Given the description of an element on the screen output the (x, y) to click on. 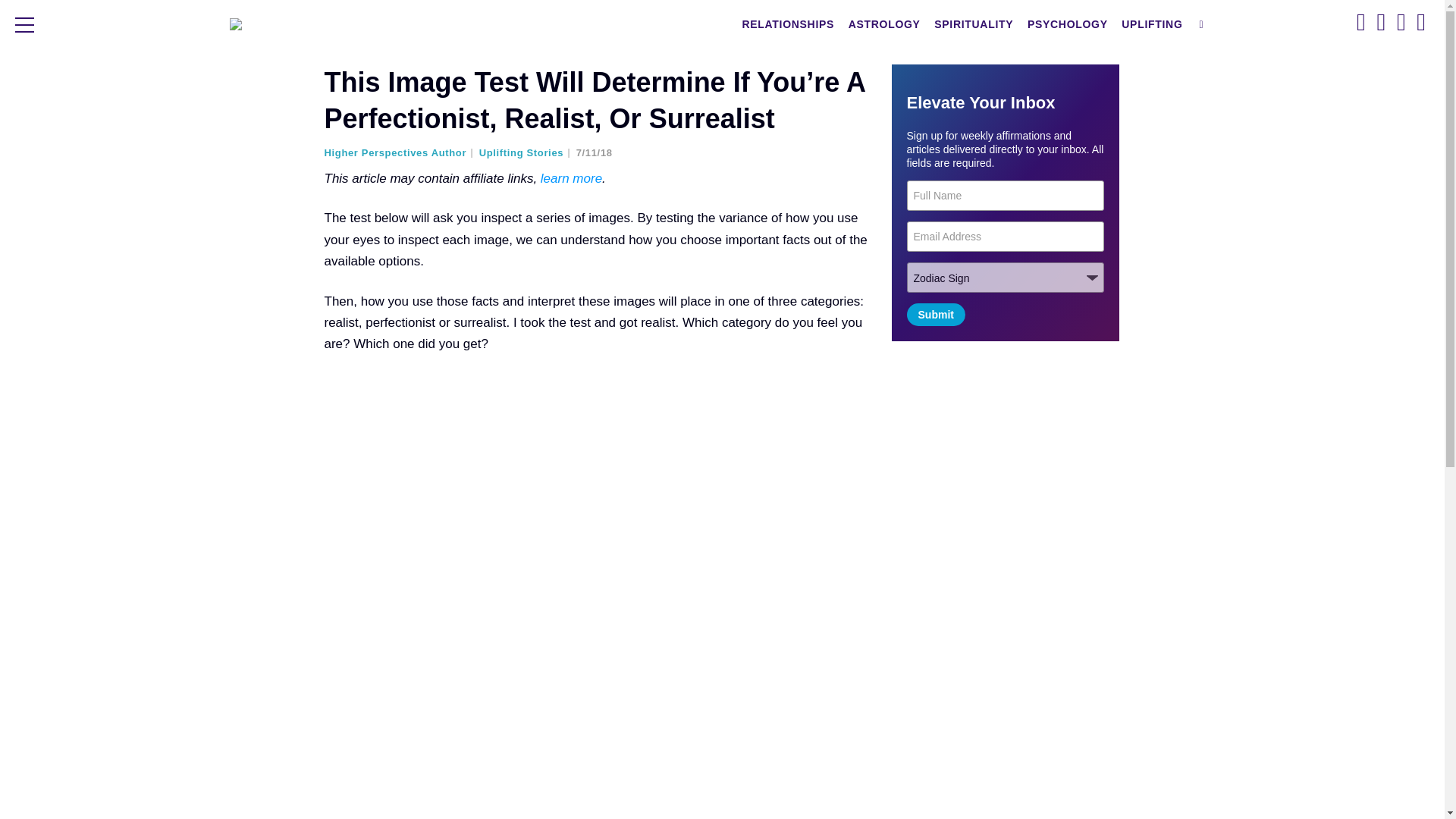
RELATIONSHIPS (788, 24)
UPLIFTING (1152, 24)
ASTROLOGY (884, 24)
learn more (571, 178)
Submit (936, 314)
Higher Perspectives Author (400, 152)
SPIRITUALITY (972, 24)
Posts by Higher Perspectives Author (400, 152)
PSYCHOLOGY (1067, 24)
Uplifting Stories (526, 152)
